Given the description of an element on the screen output the (x, y) to click on. 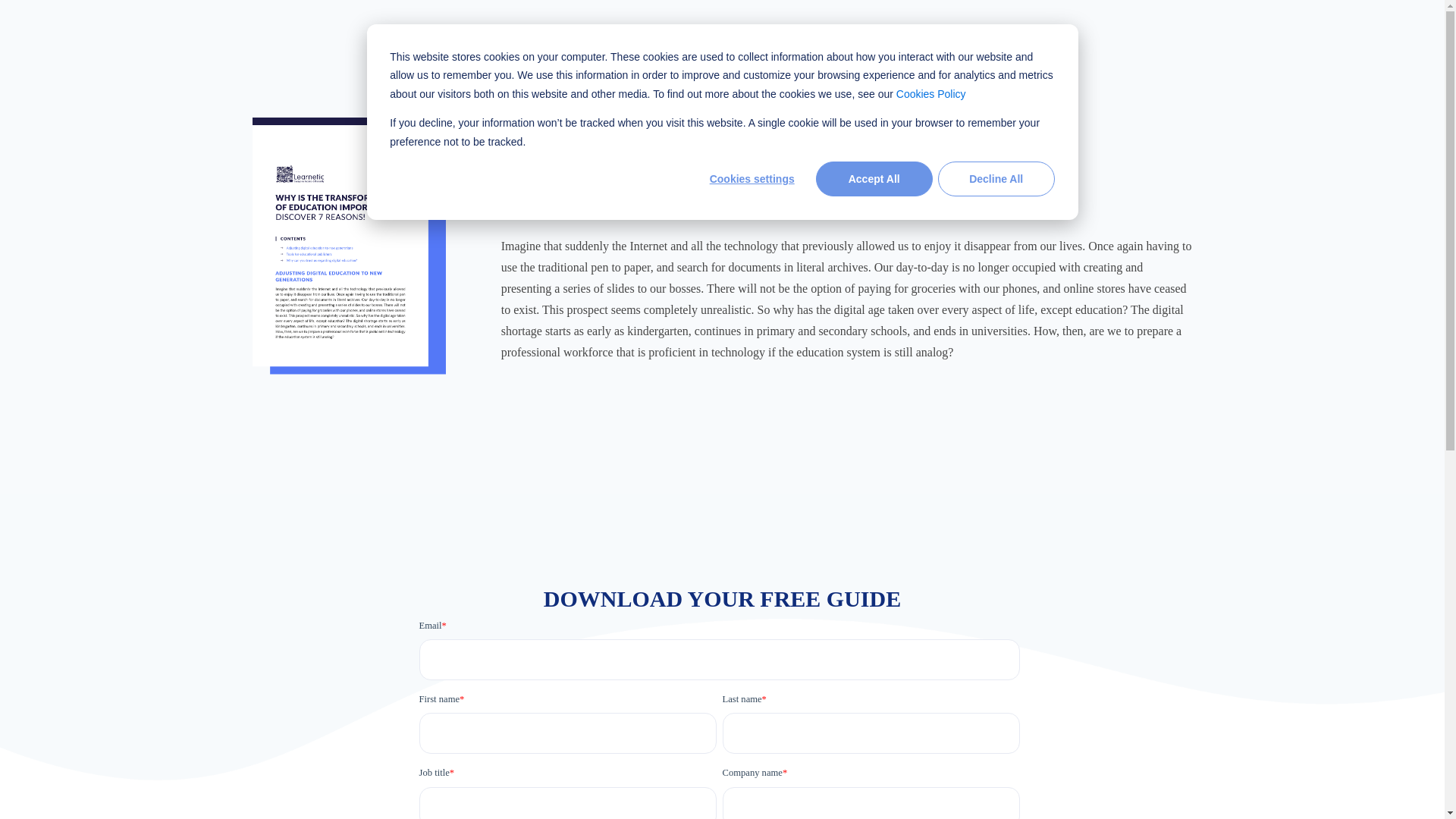
guide-01 (348, 246)
